Given the description of an element on the screen output the (x, y) to click on. 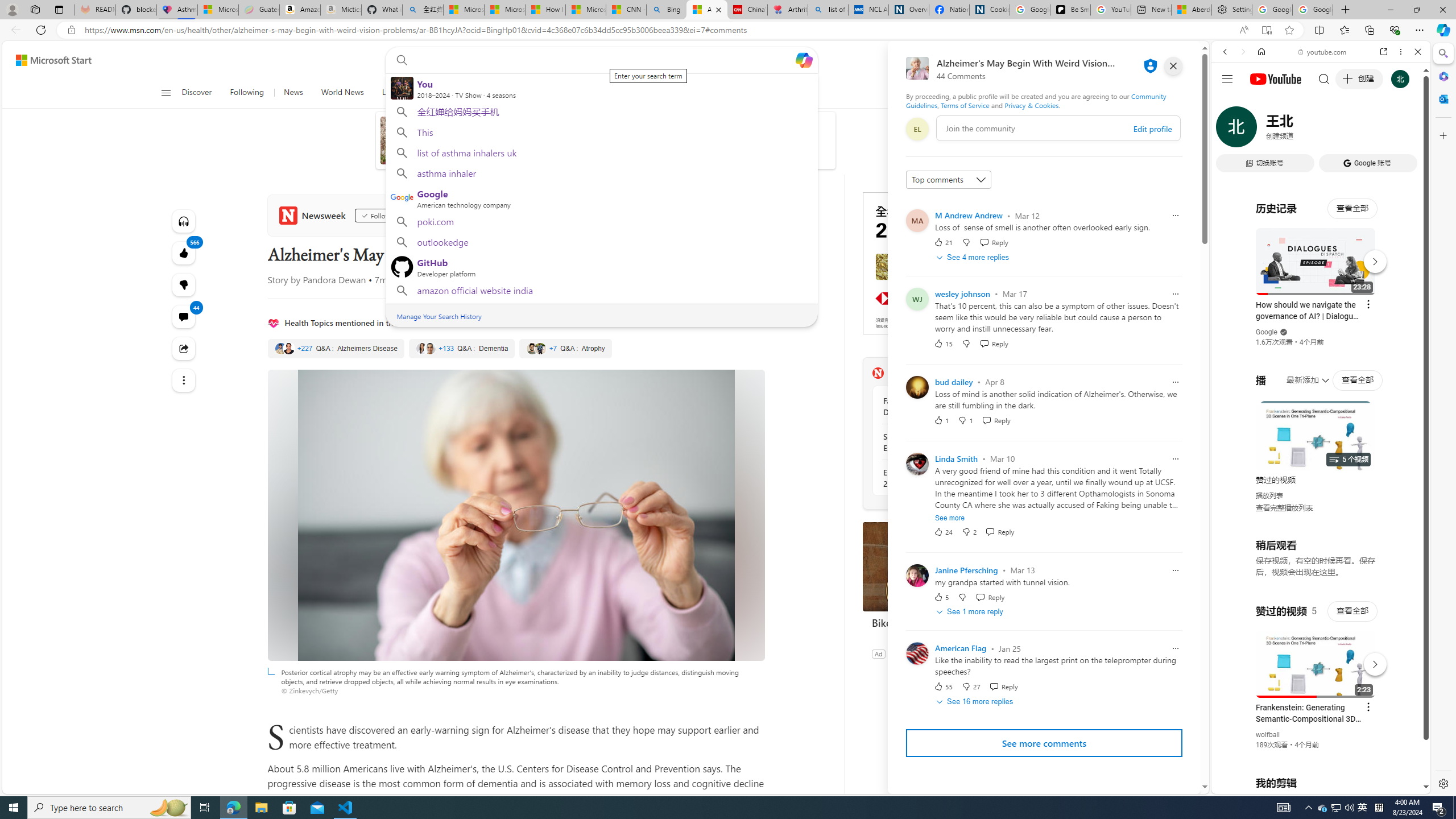
Local (390, 92)
Actions for this site (1371, 661)
You You (601, 87)
Newsweek (877, 372)
Fans React to Shocking Detail in Duggar Family Wedding Photo (944, 406)
Food & Drink (743, 92)
Alzheimers Disease (335, 348)
M Andrew Andrew (968, 215)
21 Like (942, 241)
Class: button-glyph (165, 92)
